Given the description of an element on the screen output the (x, y) to click on. 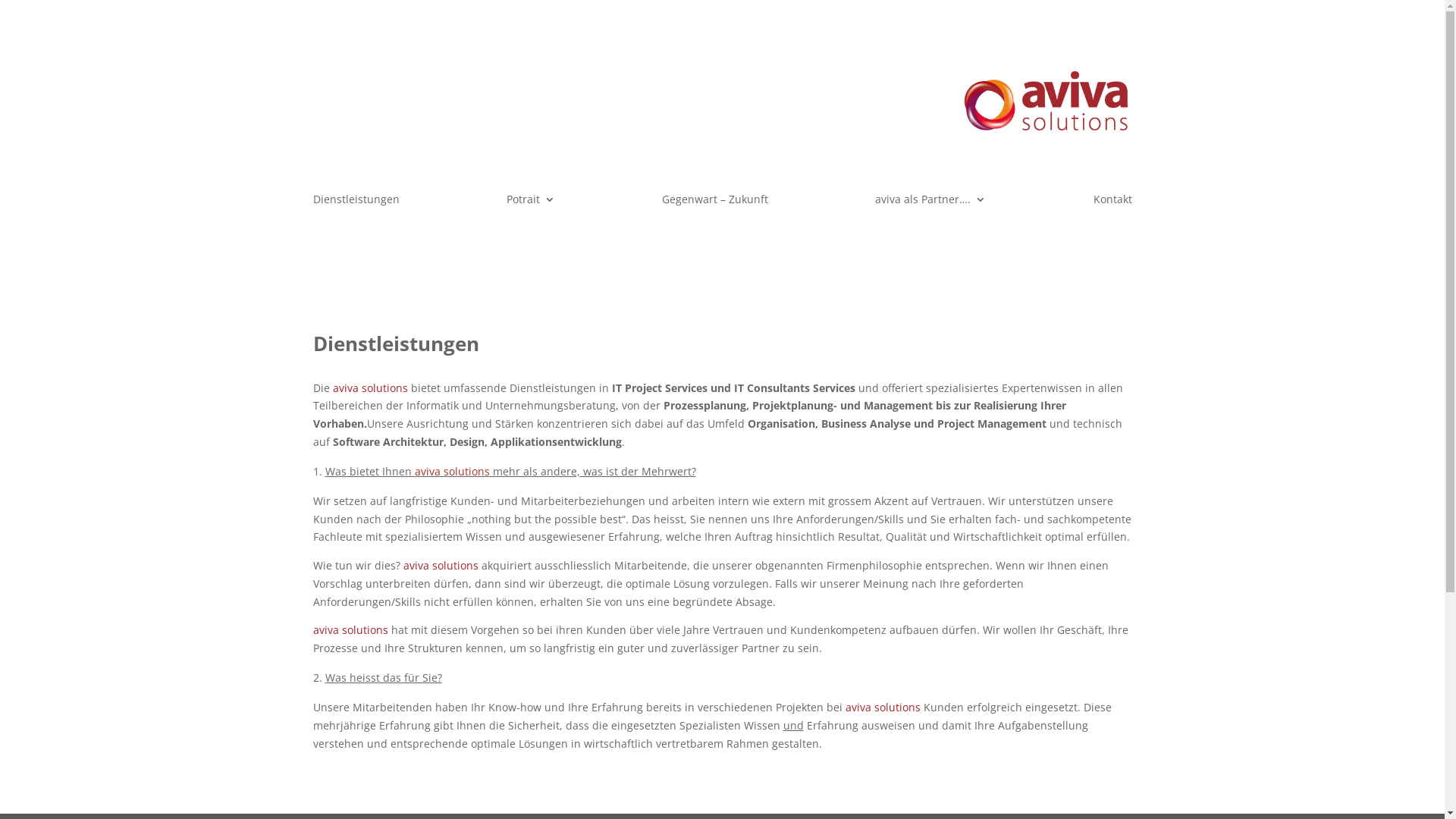
Kontakt Element type: text (1112, 202)
Dienstleistungen Element type: text (355, 202)
Potrait Element type: text (530, 202)
Logo_Selection Element type: hover (1045, 104)
